Given the description of an element on the screen output the (x, y) to click on. 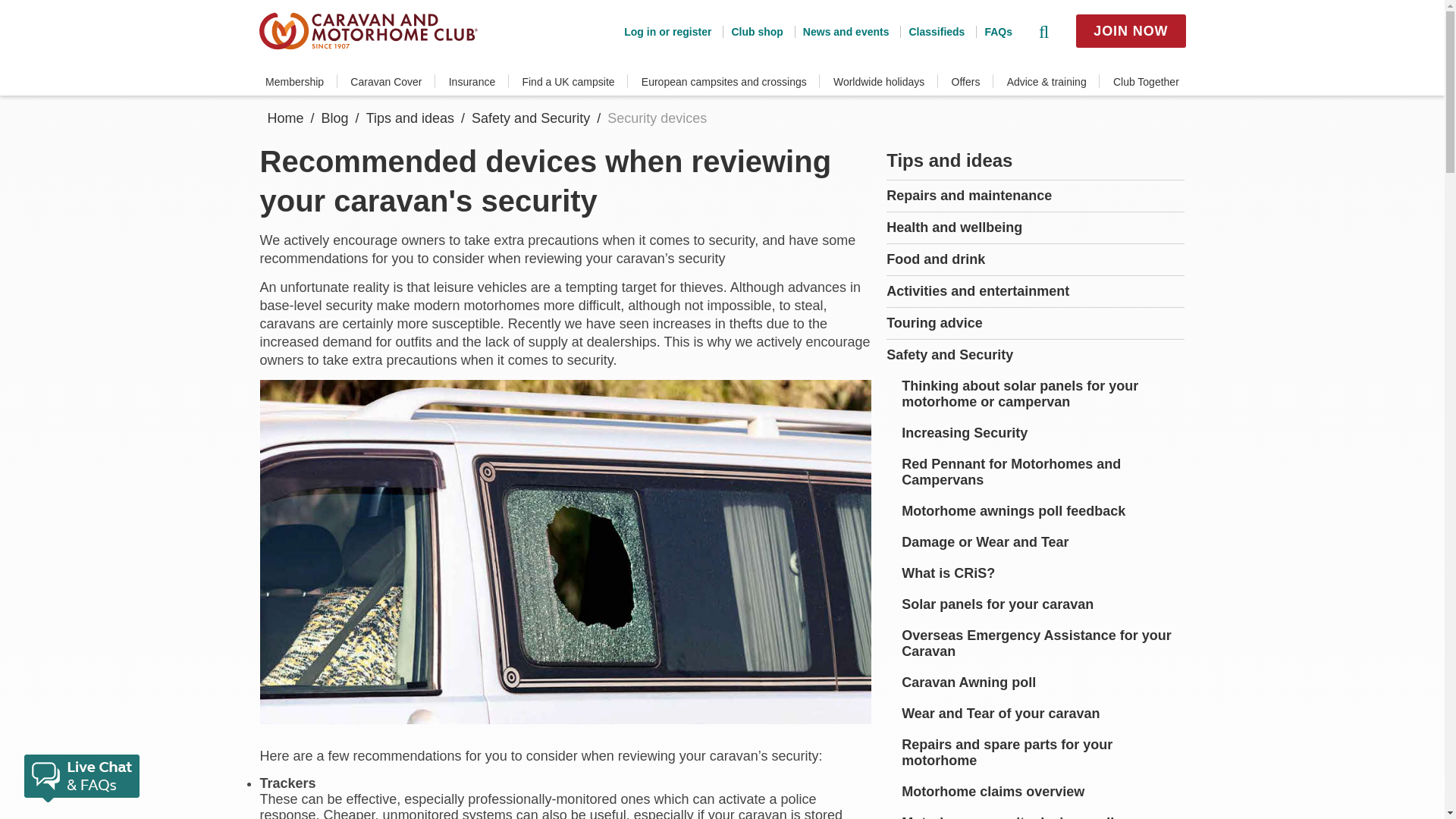
FAQs (993, 31)
Club shop (752, 31)
News and events (841, 31)
Classifieds (931, 31)
Membership (293, 81)
JOIN NOW (1130, 30)
Log in or register (667, 31)
Log in or register (667, 31)
Caravan Cover (386, 81)
